Given the description of an element on the screen output the (x, y) to click on. 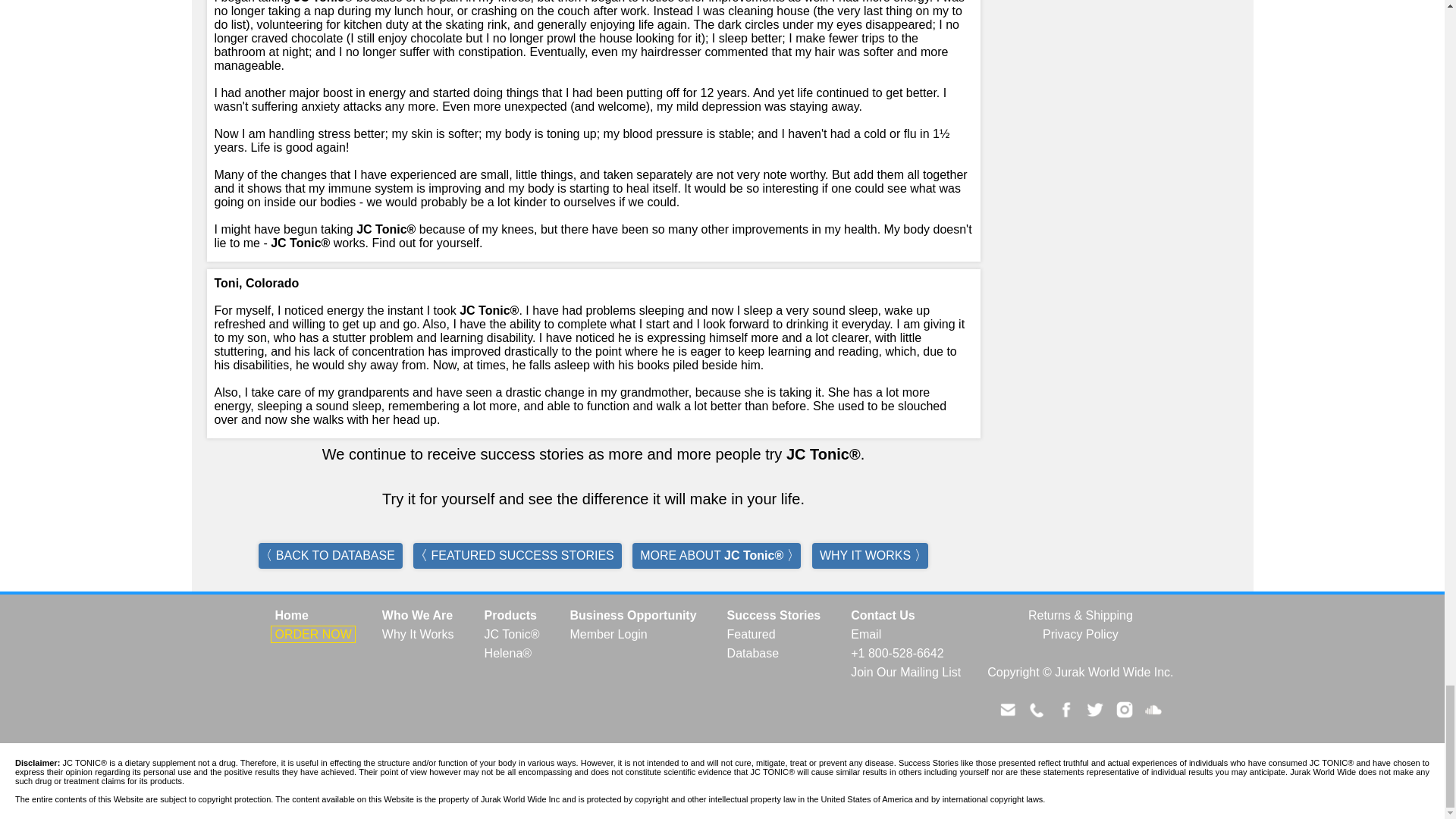
Products (510, 615)
Email (866, 634)
Who We Are (417, 615)
Contact Us (882, 615)
Featured (750, 634)
Why It Works (418, 634)
Join Our Mailing List (905, 671)
Database (753, 652)
Privacy Policy (1080, 634)
Member Login (608, 634)
Business Opportunity (633, 615)
Home (290, 615)
Success Stories (774, 615)
ORDER NOW (312, 633)
